Given the description of an element on the screen output the (x, y) to click on. 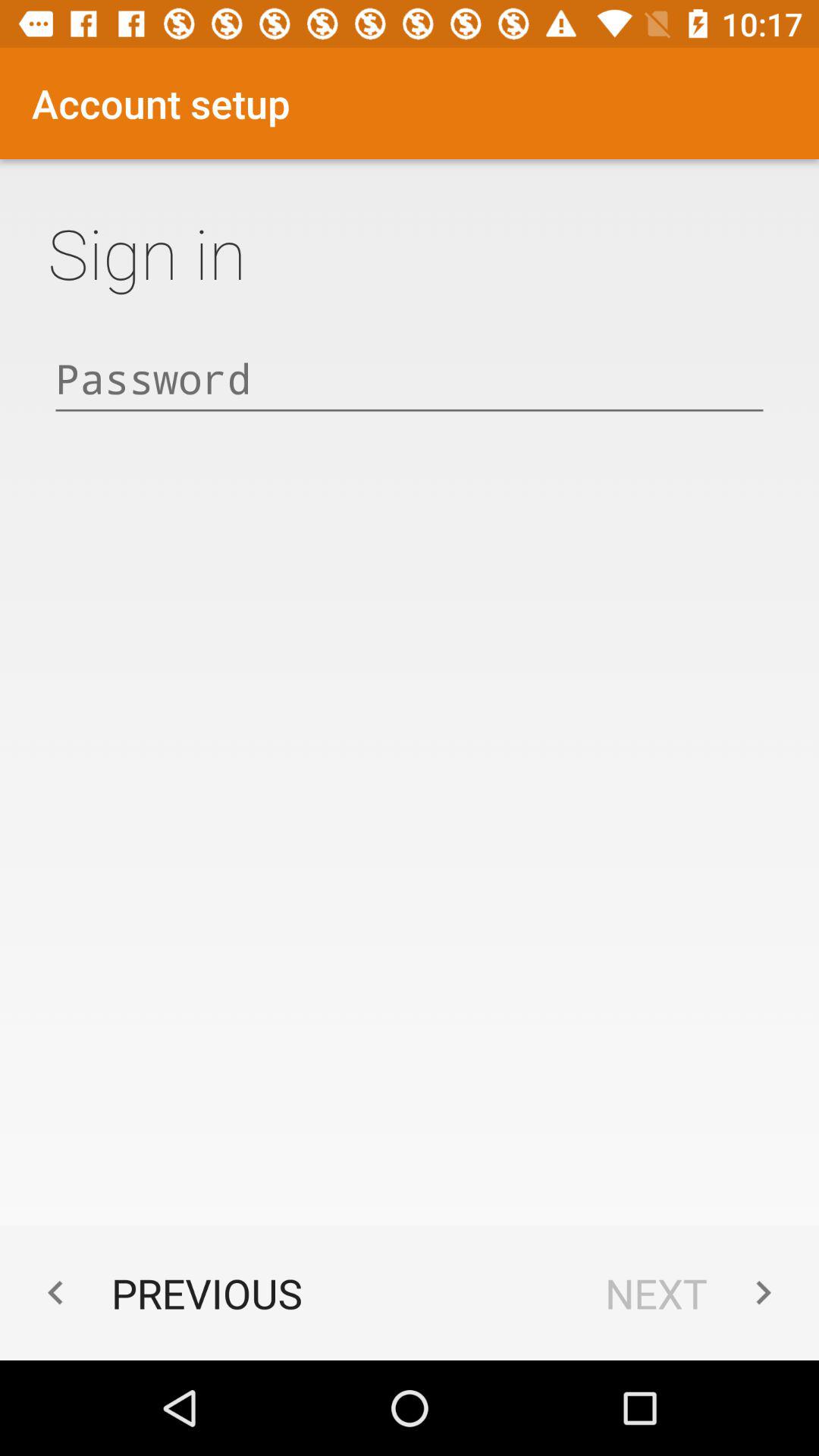
swipe to previous icon (166, 1292)
